Given the description of an element on the screen output the (x, y) to click on. 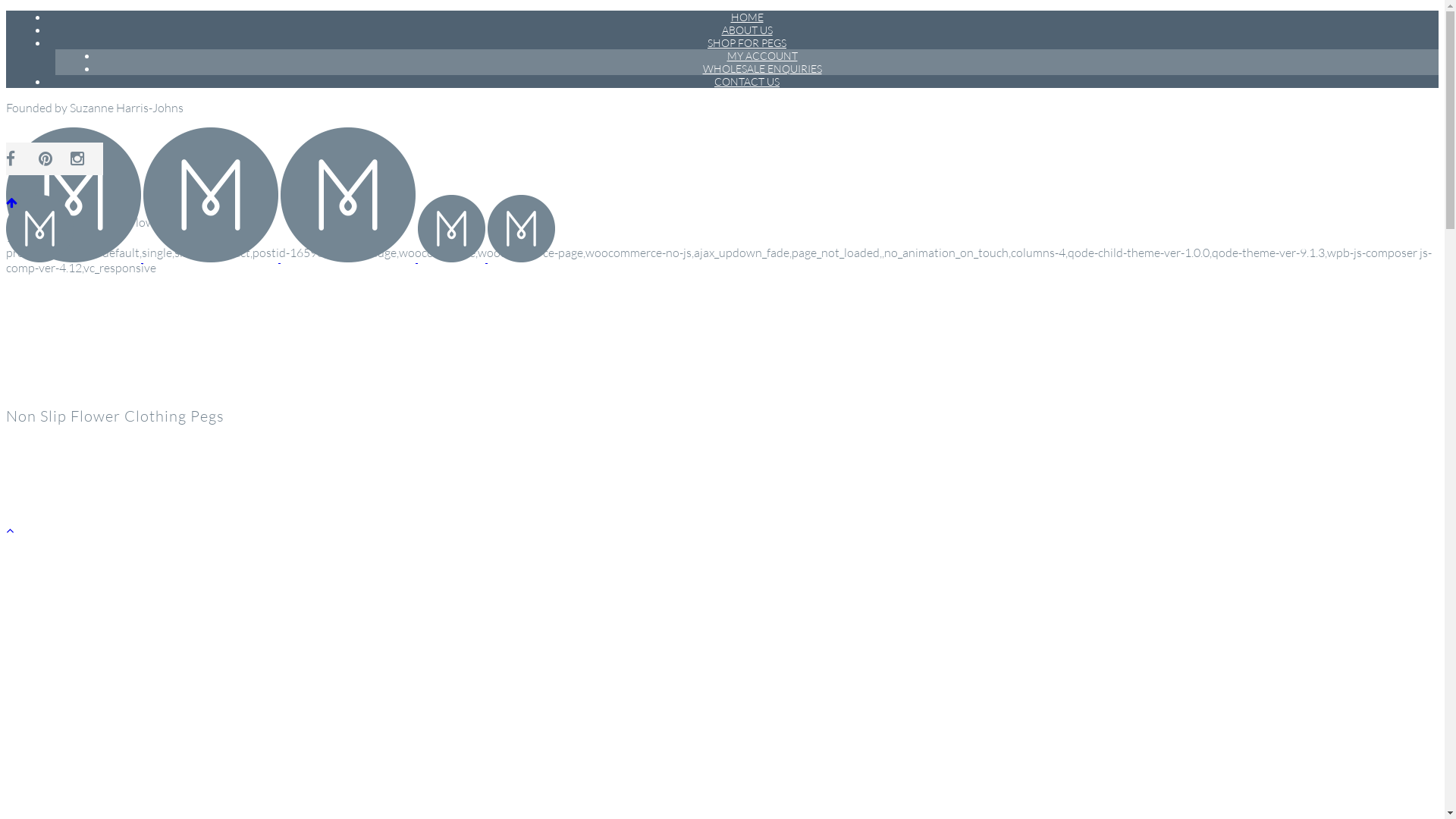
ABOUT US Element type: text (746, 29)
CONTACT US Element type: text (746, 81)
WHOLESALE ENQUIRIES Element type: text (762, 68)
SHOP FOR PEGS Element type: text (746, 42)
MY ACCOUNT Element type: text (762, 55)
HOME Element type: text (746, 16)
